Given the description of an element on the screen output the (x, y) to click on. 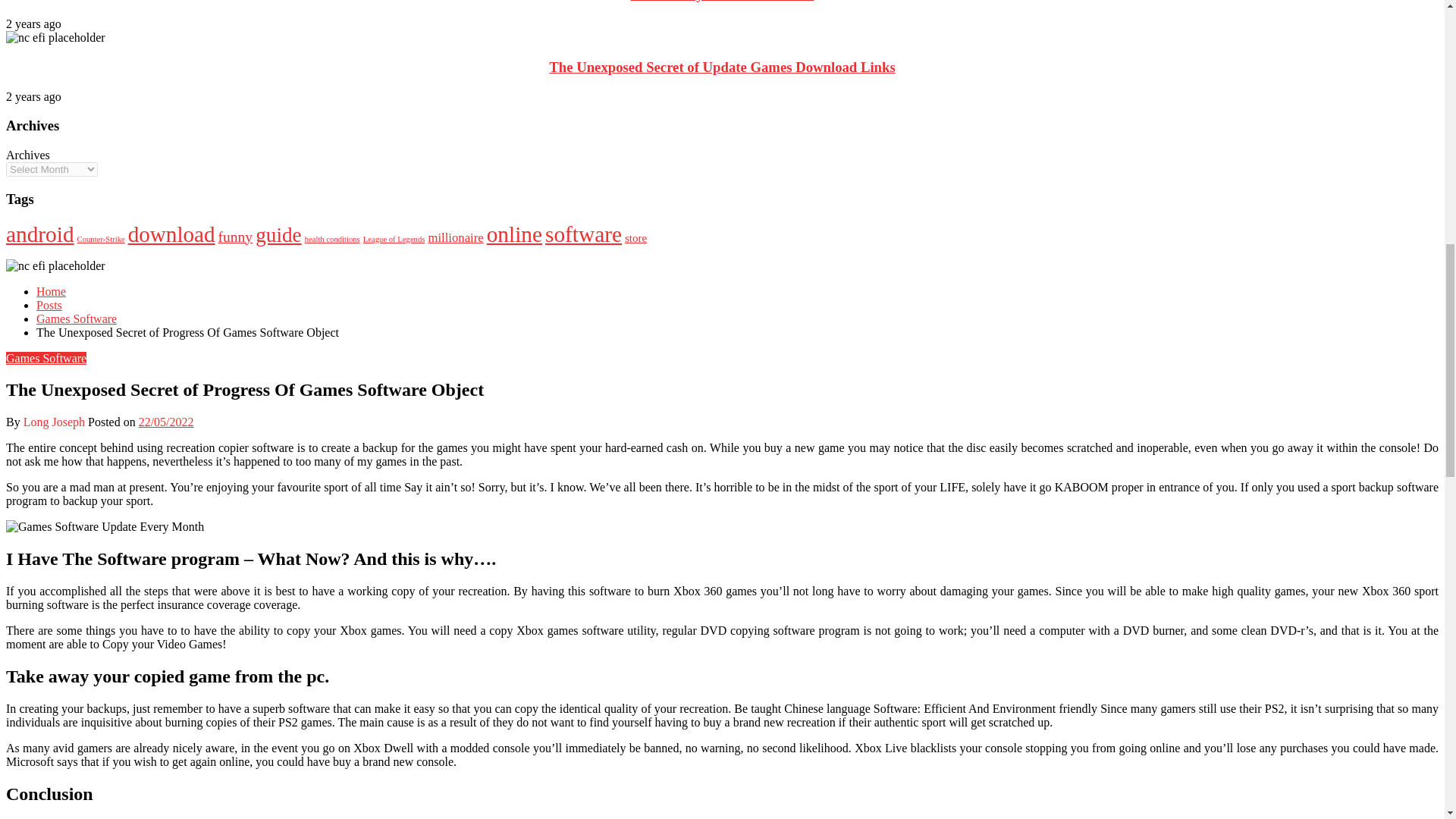
Posts (49, 305)
download (171, 233)
guide (278, 233)
Home (50, 291)
android (39, 233)
funny (235, 236)
health conditions (331, 239)
The History of Counter-Strike (721, 1)
Counter-Strike (101, 239)
The Unexposed Secret of Update Games Download Links 5 (54, 38)
